Given the description of an element on the screen output the (x, y) to click on. 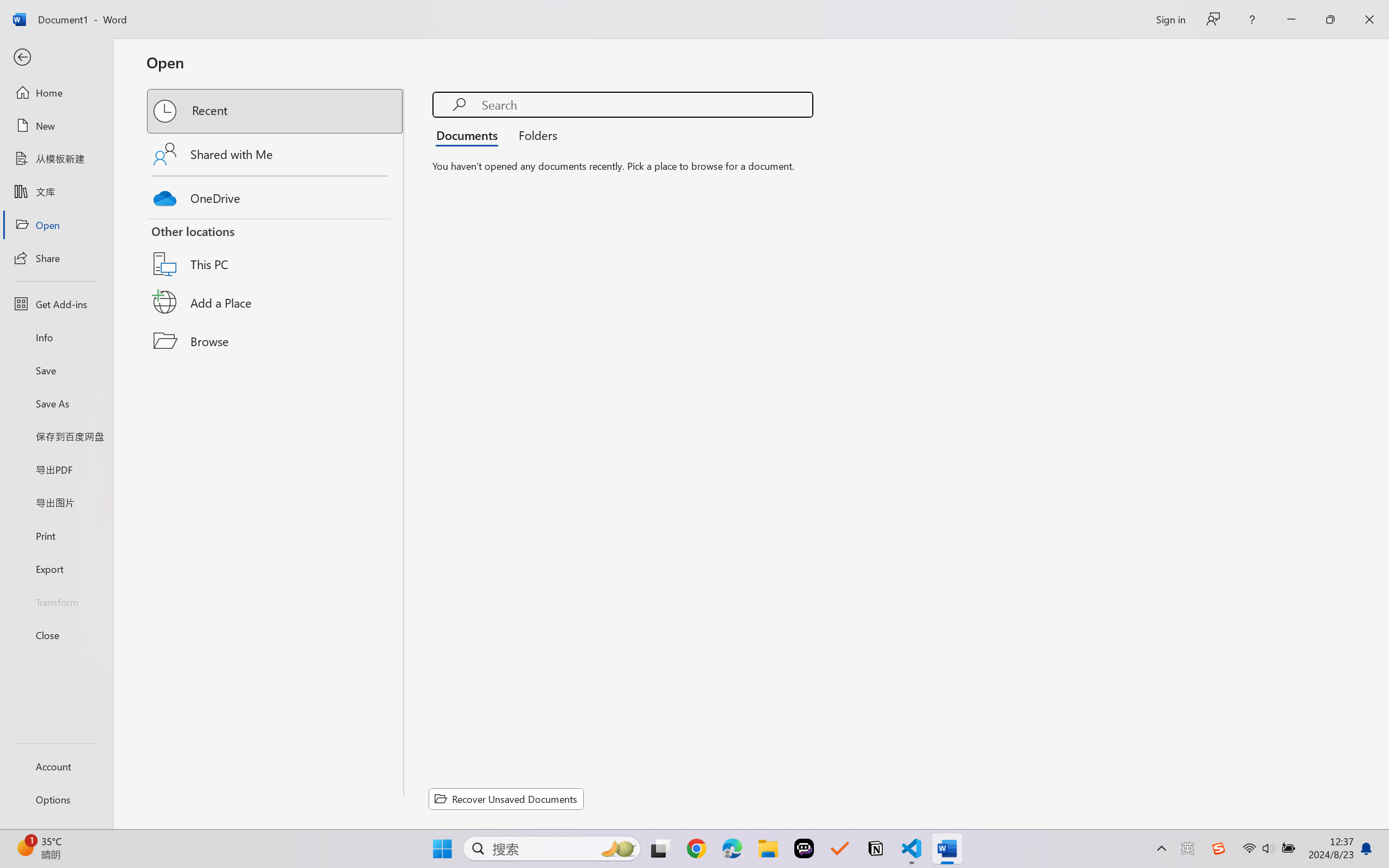
Transform (56, 601)
Browse (275, 340)
Info (56, 337)
Recover Unsaved Documents (506, 798)
Shared with Me (275, 153)
